Given the description of an element on the screen output the (x, y) to click on. 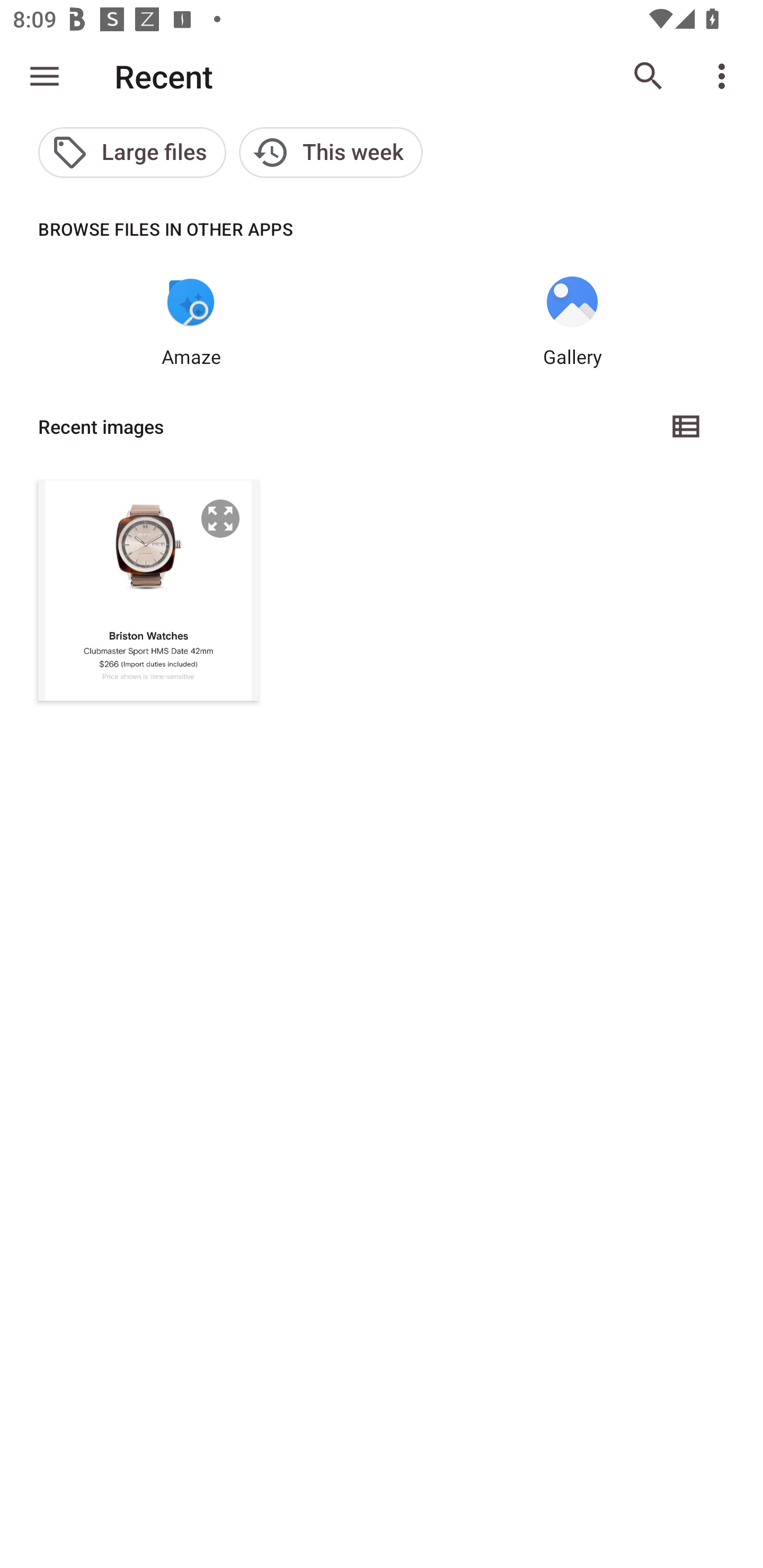
Show roots (44, 75)
Search (648, 75)
More options (724, 75)
Large files (132, 152)
This week (330, 152)
Amaze (190, 322)
Gallery (572, 322)
List view (686, 426)
Preview the file farfetch-poster-1709626146897.jpg (220, 517)
